Given the description of an element on the screen output the (x, y) to click on. 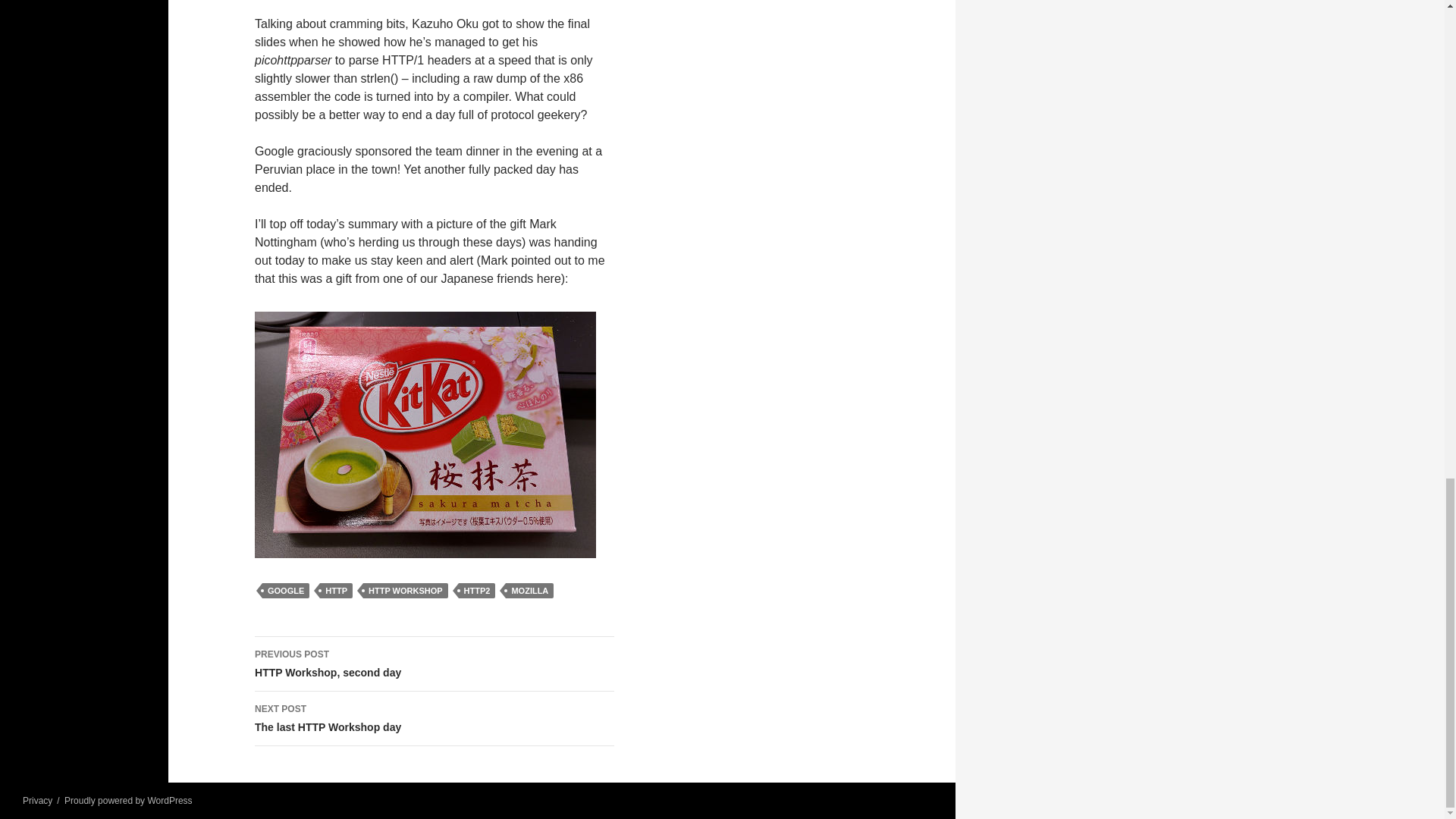
MOZILLA (529, 590)
GOOGLE (285, 590)
kitkat (424, 434)
HTTP2 (434, 664)
HTTP (477, 590)
HTTP WORKSHOP (336, 590)
